Given the description of an element on the screen output the (x, y) to click on. 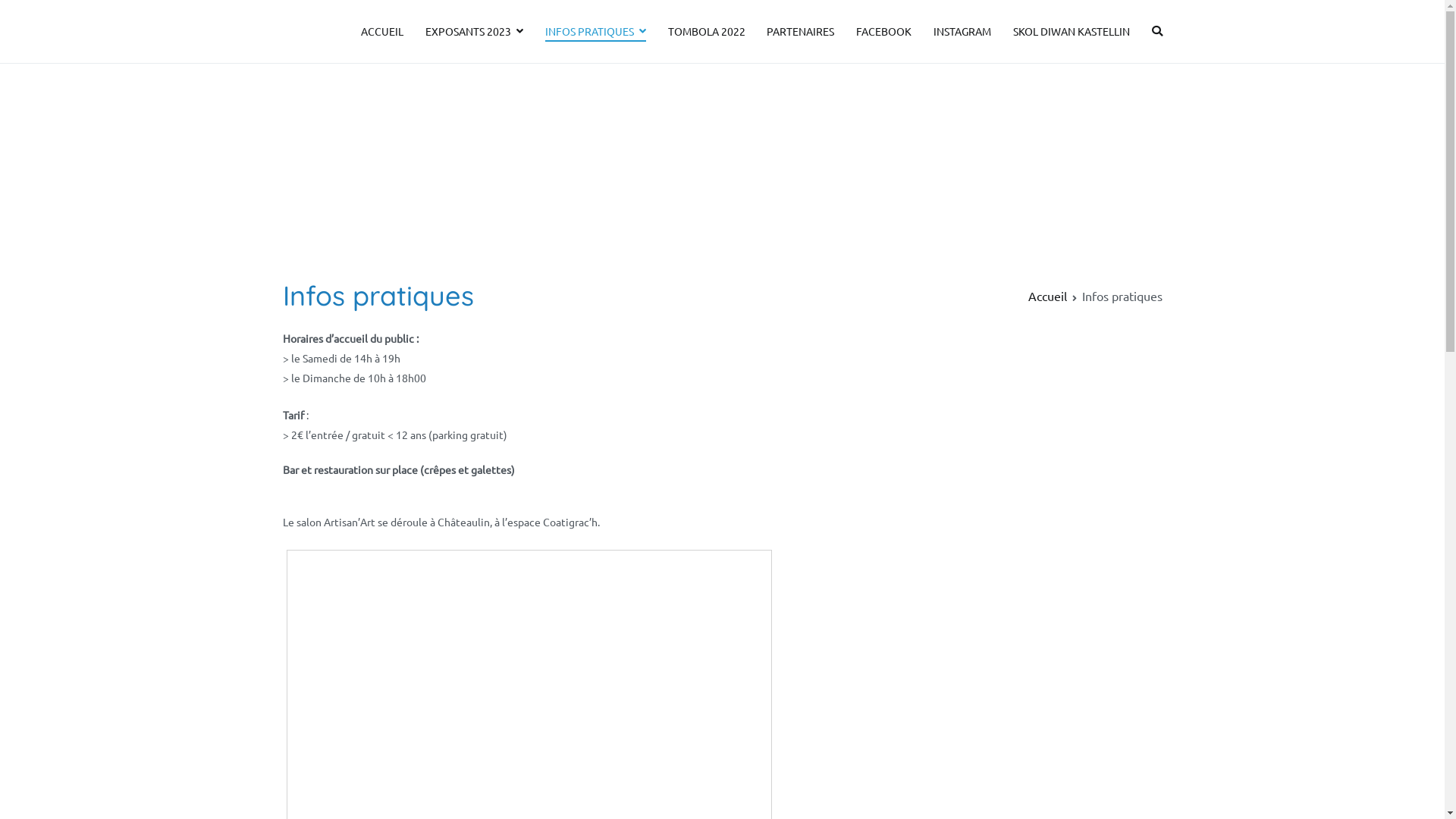
EXPOSANTS 2023 Element type: text (474, 31)
INSTAGRAM Element type: text (962, 31)
Rechercher Element type: text (38, 14)
PARTENAIRES Element type: text (800, 31)
TOMBOLA 2022 Element type: text (706, 31)
ACCUEIL Element type: text (381, 31)
SKOL DIWAN KASTELLIN Element type: text (1071, 31)
INFOS PRATIQUES Element type: text (595, 31)
Accueil Element type: text (1047, 295)
ARTISAN ART Element type: text (326, 42)
FACEBOOK Element type: text (883, 31)
